Given the description of an element on the screen output the (x, y) to click on. 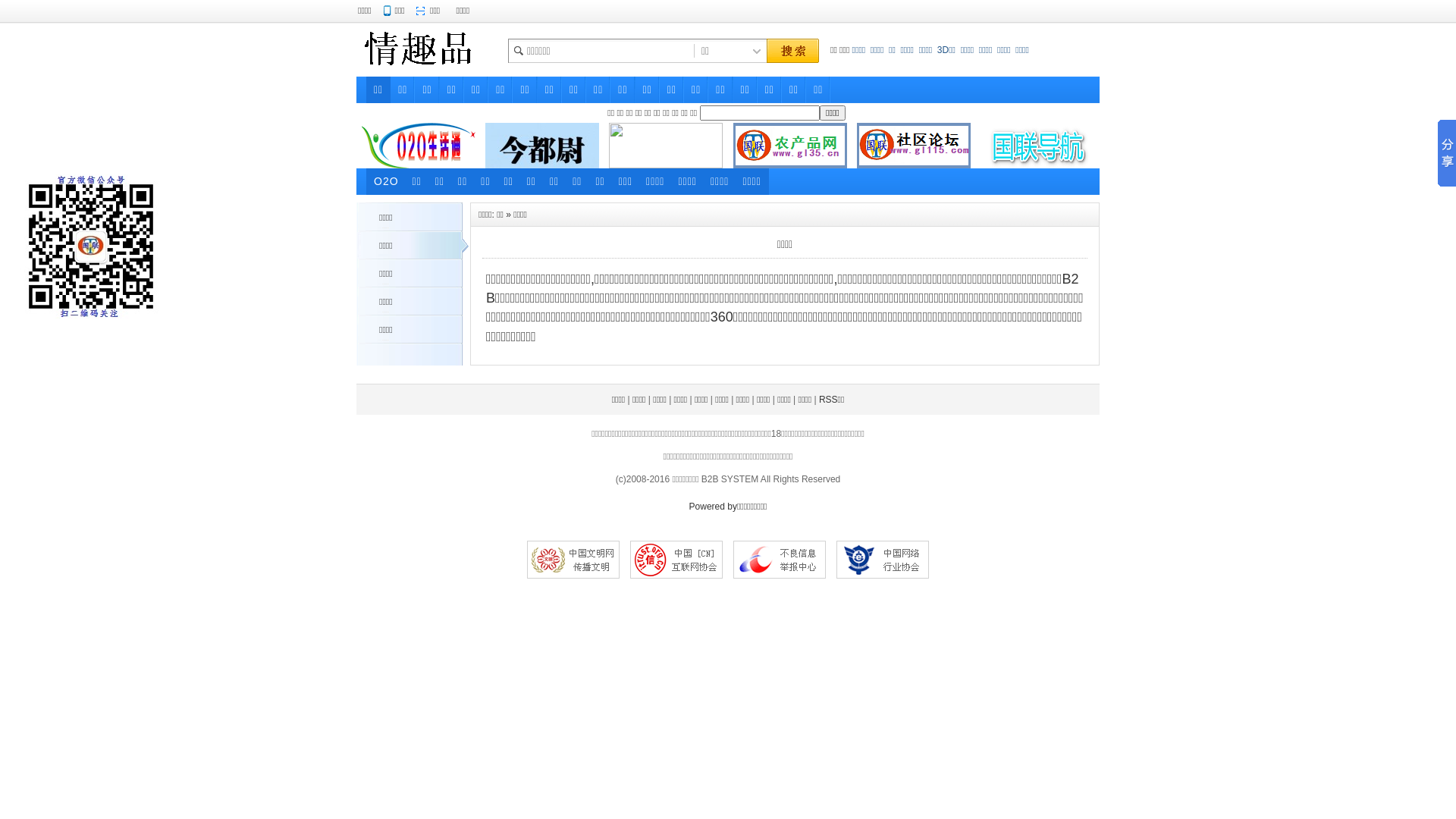
O2O Element type: text (386, 181)
  Element type: text (792, 51)
